Given the description of an element on the screen output the (x, y) to click on. 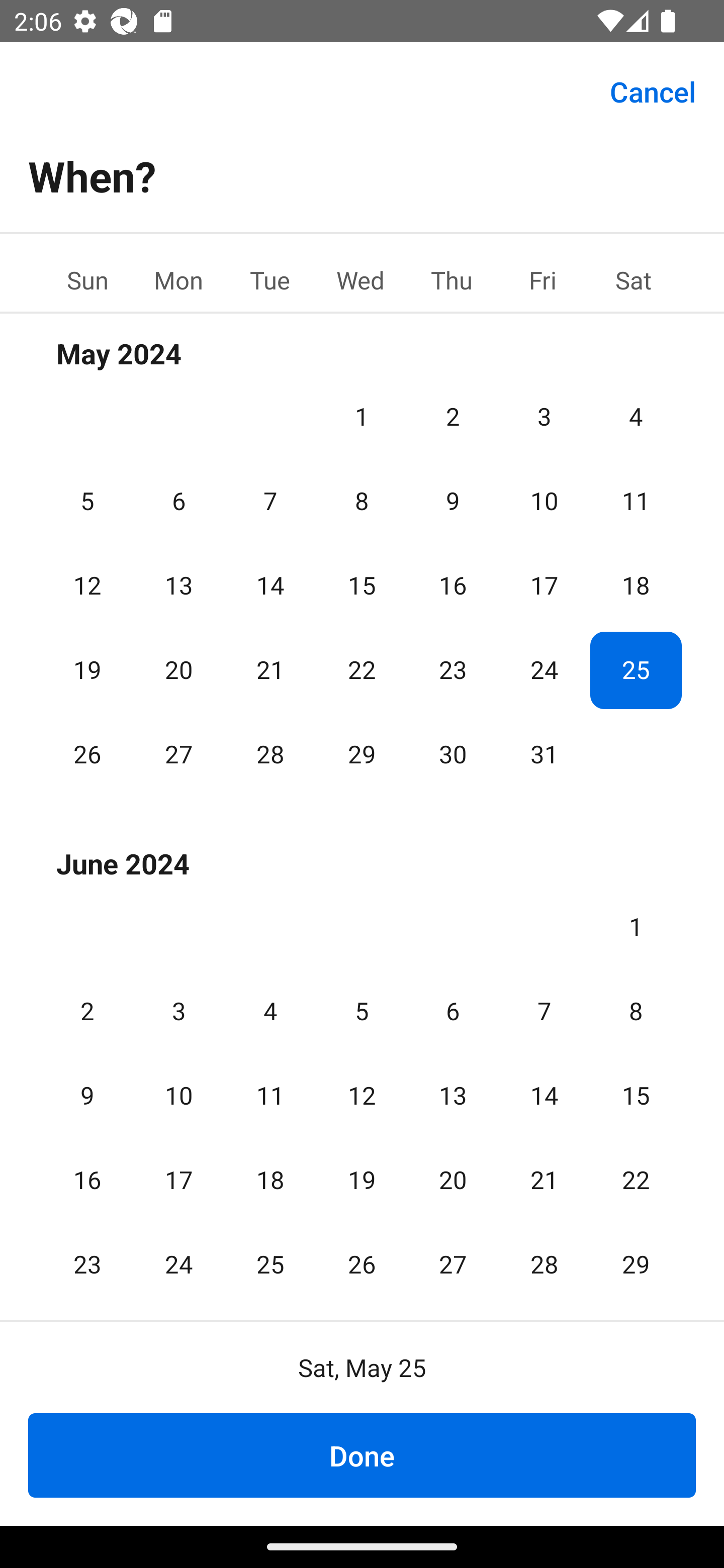
Cancel (652, 90)
Done (361, 1454)
